Given the description of an element on the screen output the (x, y) to click on. 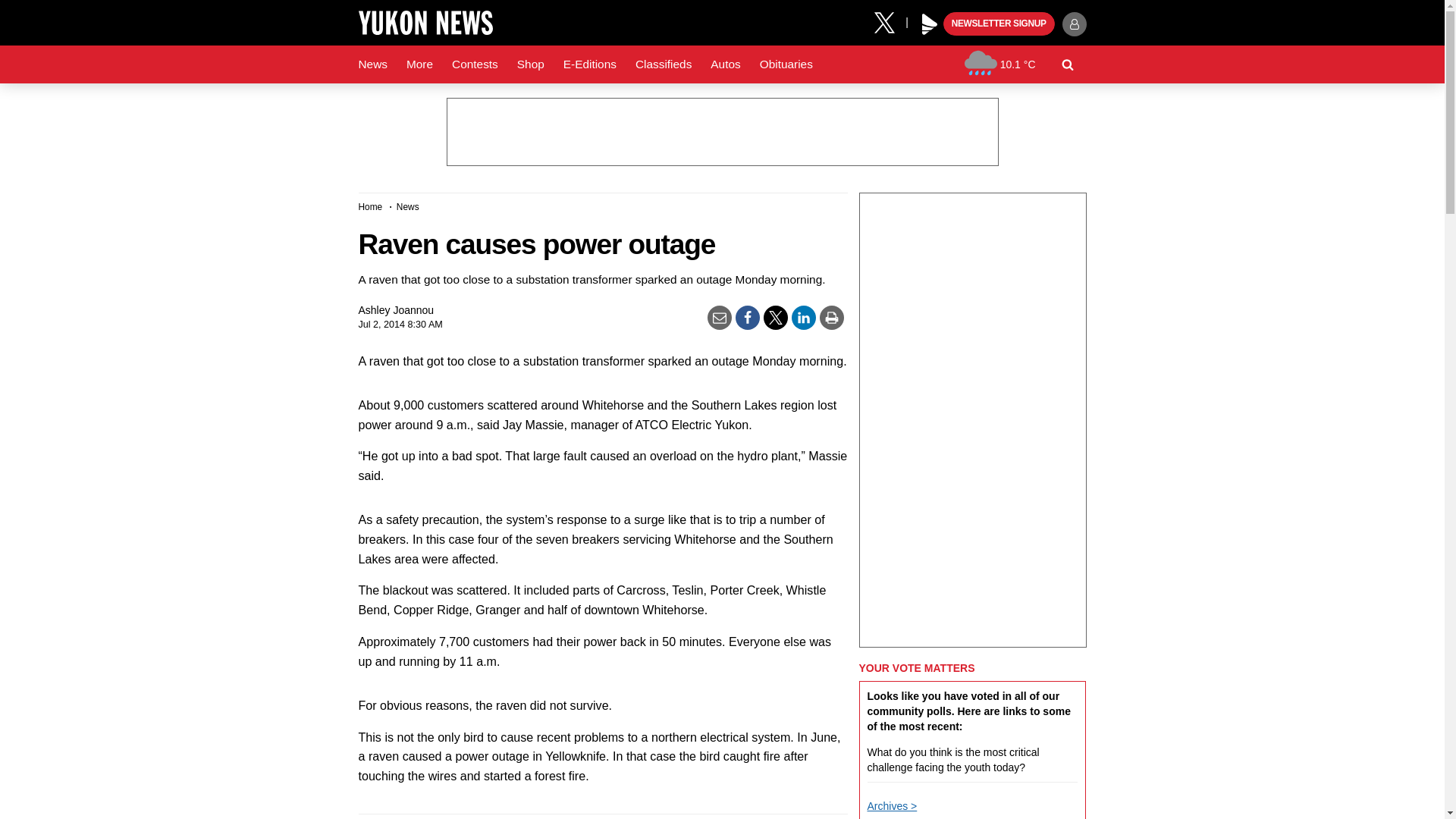
Play (929, 24)
3rd party ad content (721, 131)
NEWSLETTER SIGNUP (998, 24)
X (889, 21)
News (372, 64)
Black Press Media (929, 24)
